Given the description of an element on the screen output the (x, y) to click on. 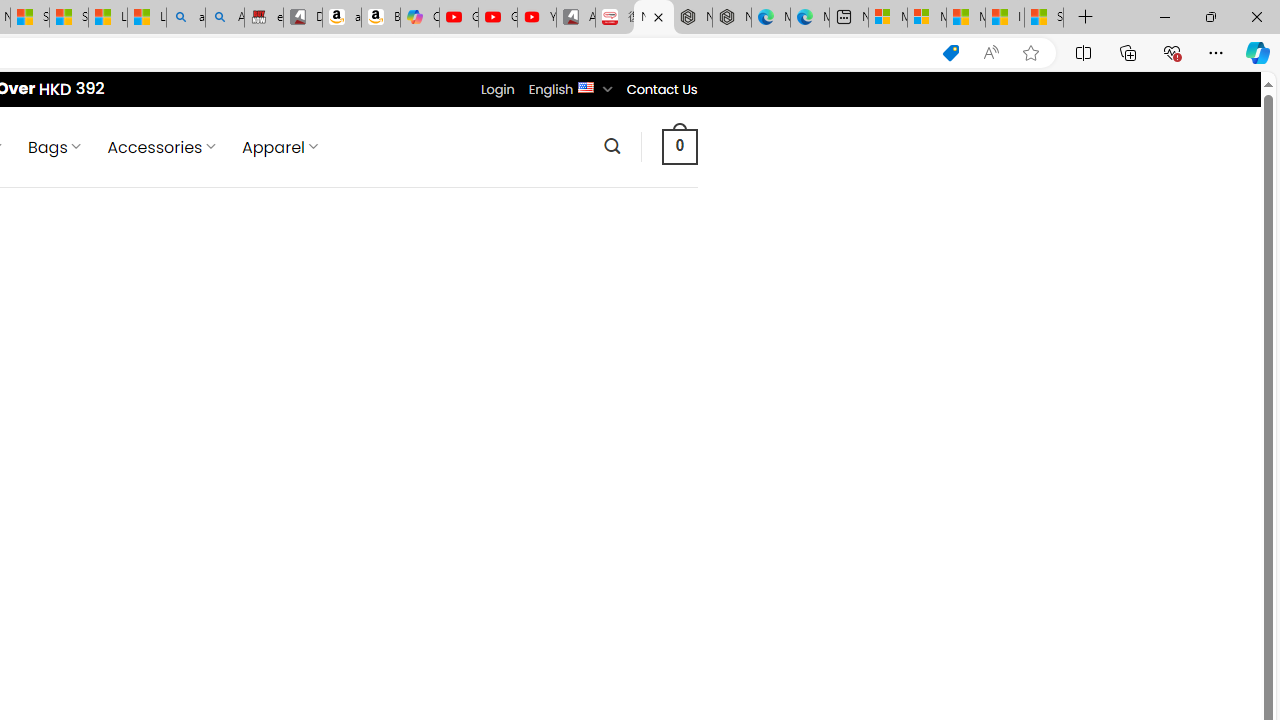
All Cubot phones (575, 17)
Amazon Echo Dot PNG - Search Images (225, 17)
Contact Us (661, 89)
Nordace - Nordace has arrived Hong Kong (732, 17)
Copilot (419, 17)
Copilot (Ctrl+Shift+.) (1258, 52)
 0  (679, 146)
amazon.in/dp/B0CX59H5W7/?tag=gsmcom05-21 (341, 17)
